Given the description of an element on the screen output the (x, y) to click on. 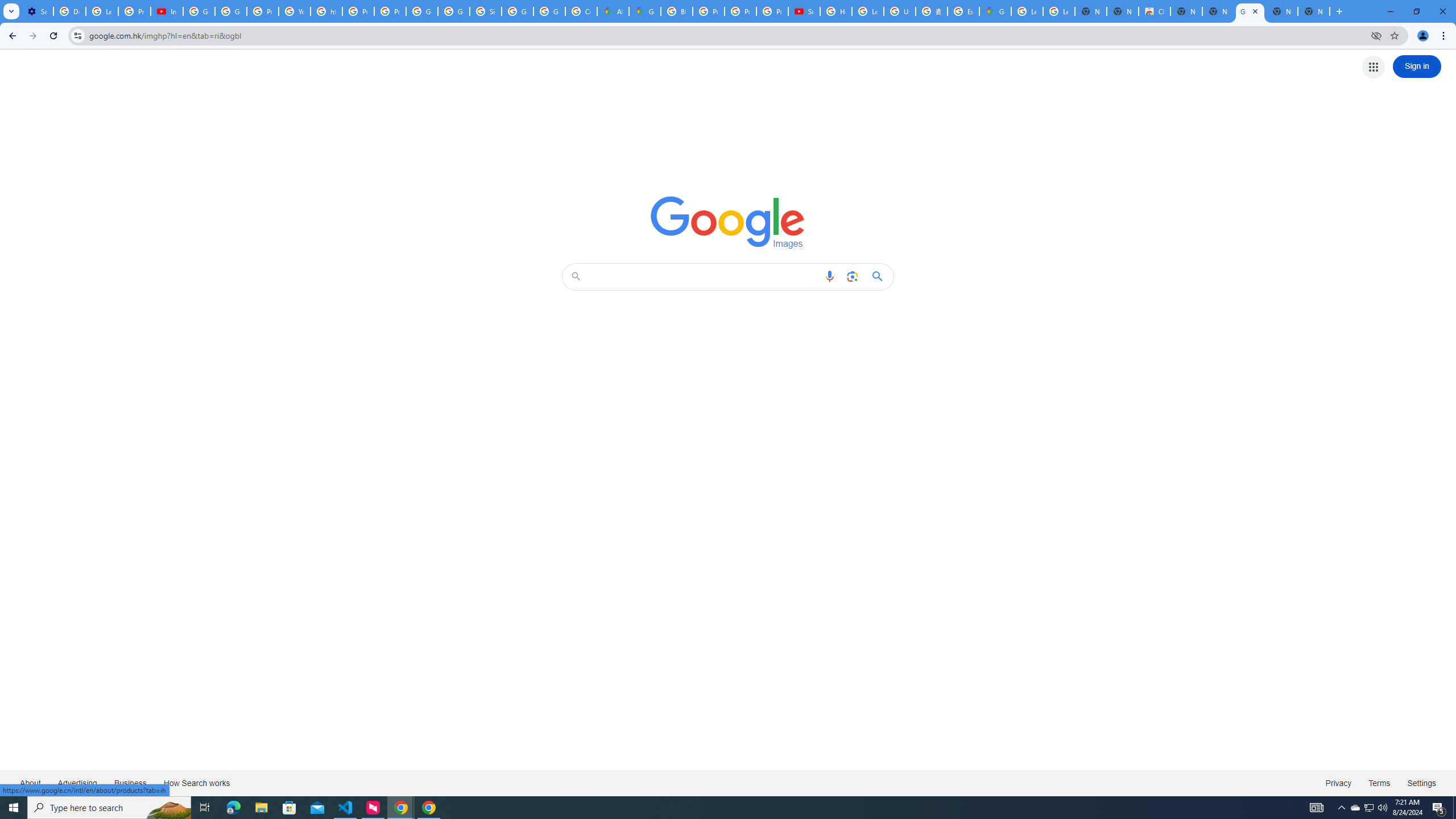
Sign in - Google Accounts (485, 11)
Business (129, 782)
Advertising (77, 782)
Google Account Help (198, 11)
How Search works (196, 782)
Privacy Help Center - Policies Help (740, 11)
